Given the description of an element on the screen output the (x, y) to click on. 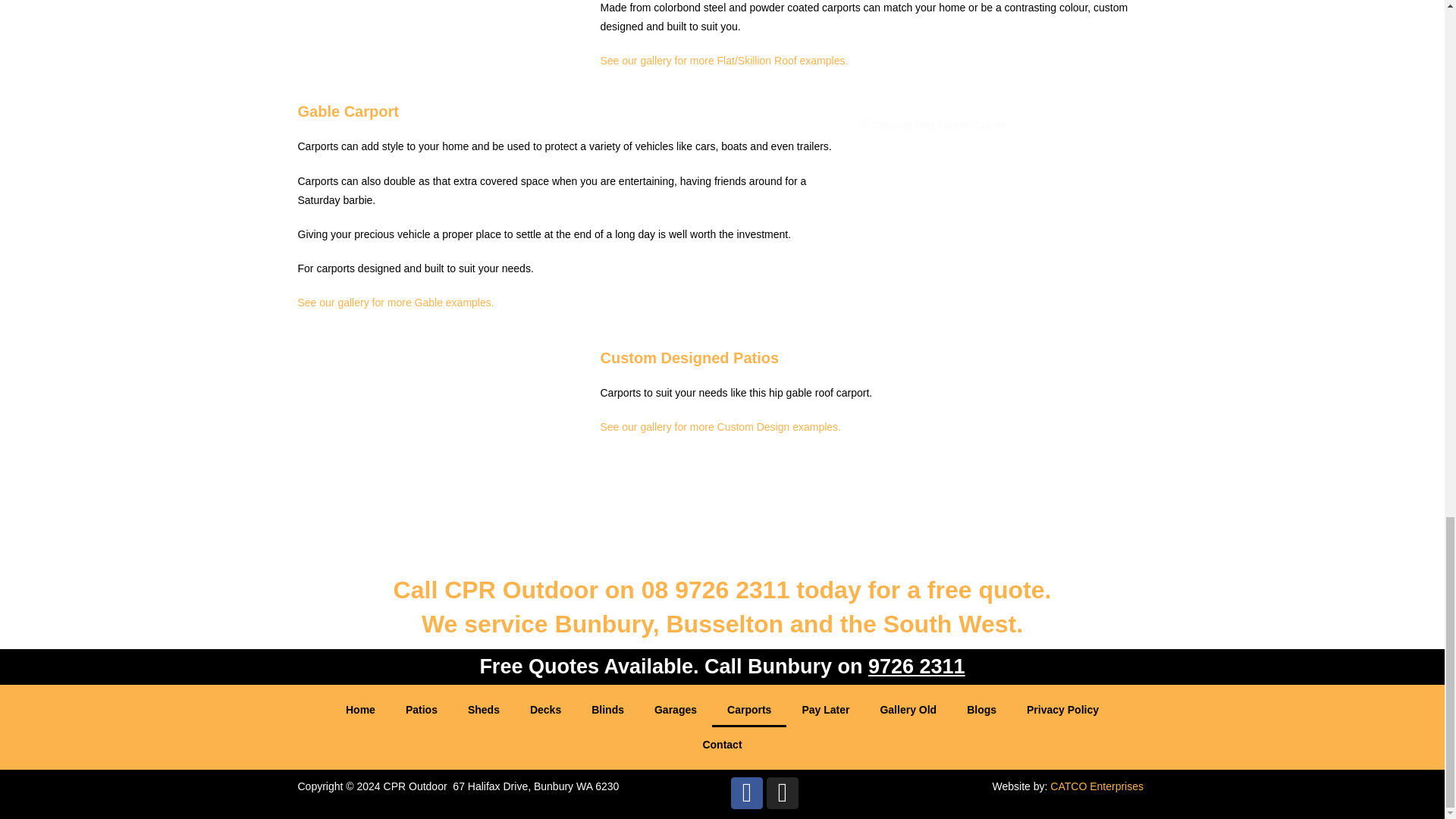
Carport Raised Hip Gable (441, 443)
